Given the description of an element on the screen output the (x, y) to click on. 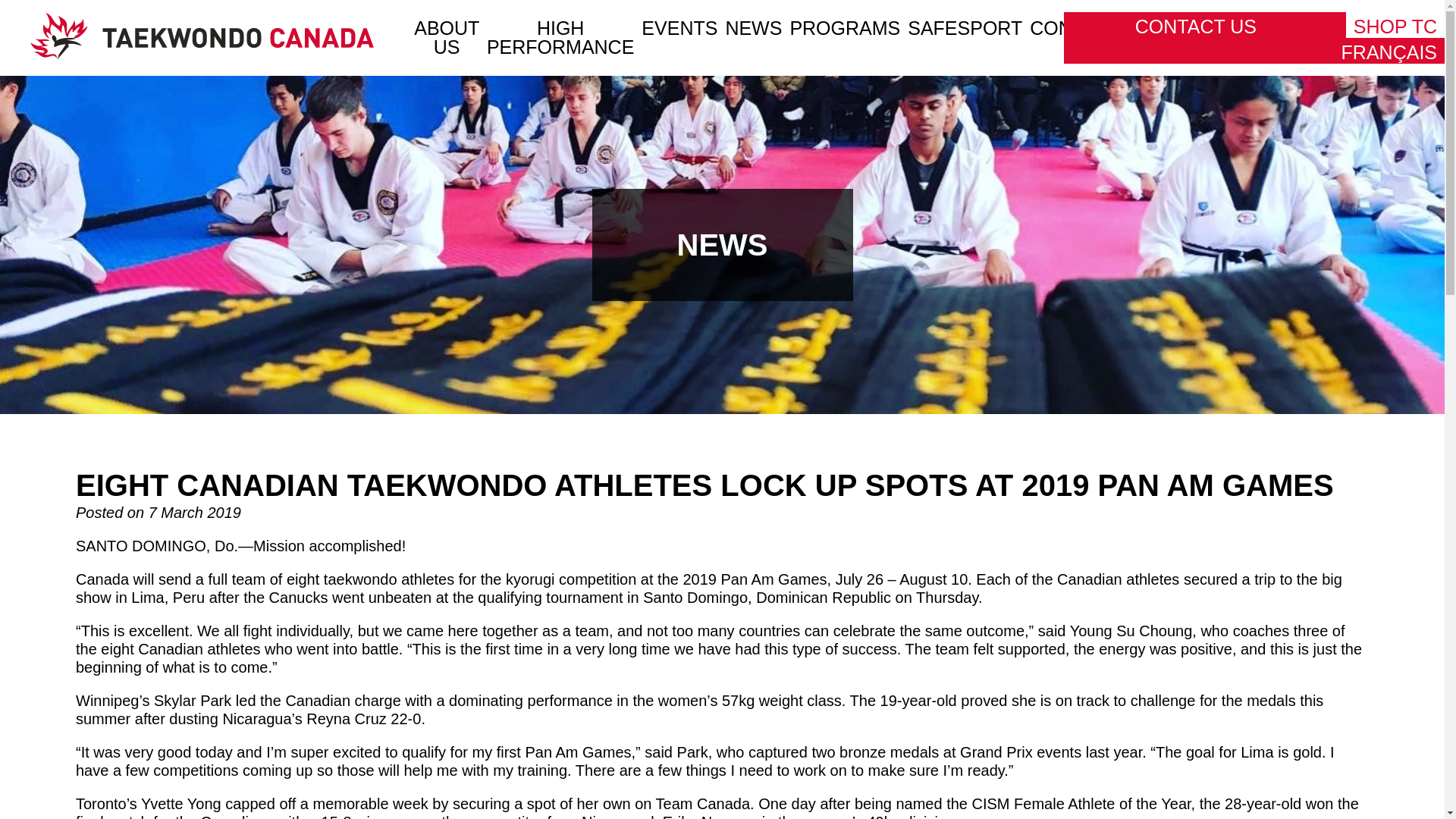
ABOUT US (446, 37)
HIGH PERFORMANCE (559, 37)
PROGRAMS (844, 27)
Search (1115, 13)
Taekwondo Canada on Instagram (1314, 13)
Taekwondo Canada on Youtube (1333, 13)
EVENTS (679, 27)
NEWS (753, 27)
SAFESPORT (964, 27)
Taekwondo Canada on Twitter (1295, 13)
Taekwondo Canada on Facebook (1276, 13)
